Given the description of an element on the screen output the (x, y) to click on. 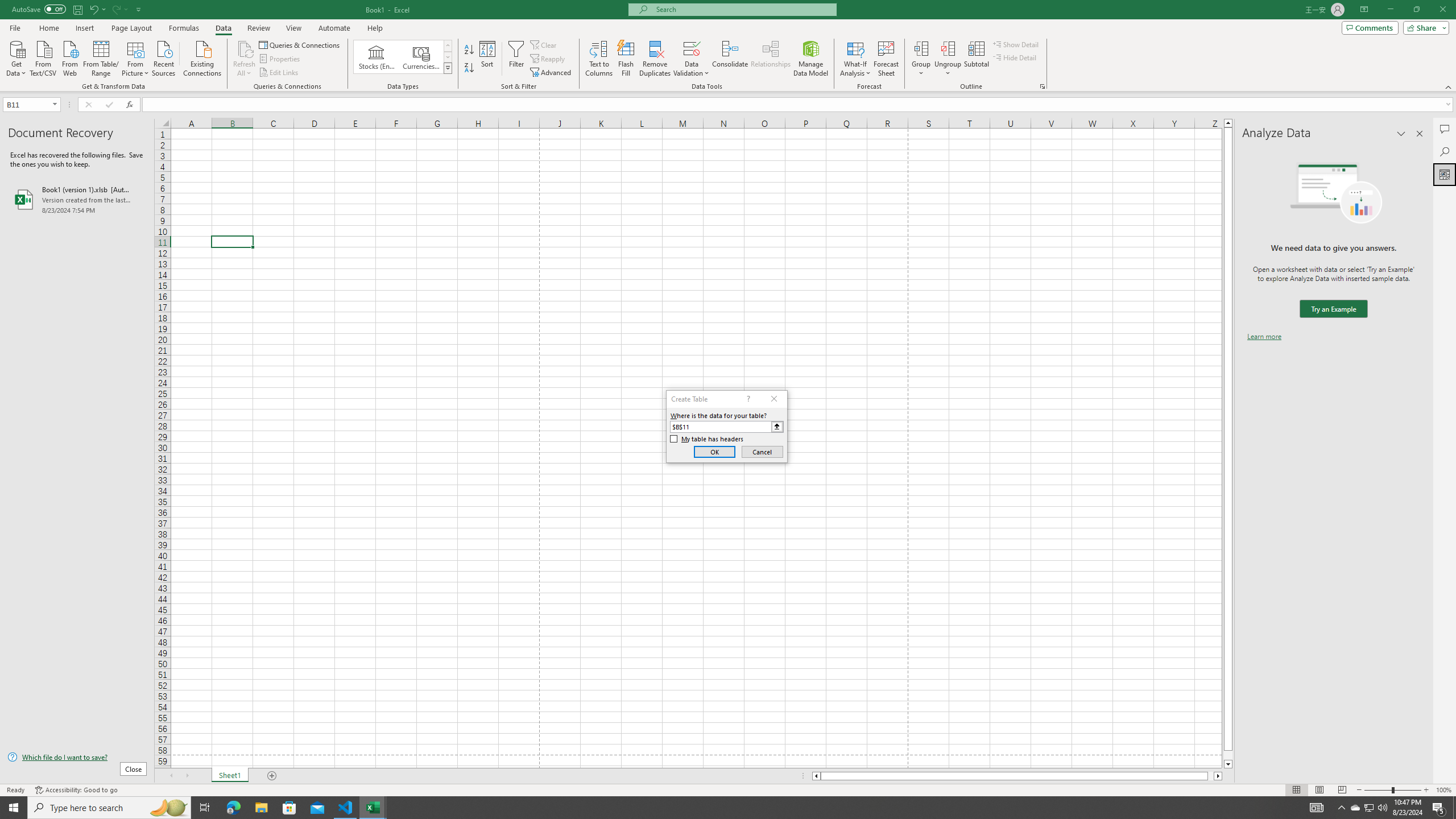
Close (1442, 9)
Microsoft search (742, 9)
Data (223, 28)
Consolidate... (729, 58)
Book1 (version 1).xlsb  [AutoRecovered] (77, 199)
Name Box (27, 104)
Learn more (1264, 336)
Minimize (1390, 9)
Advanced... (551, 72)
Reapply (548, 58)
Data Validation... (691, 58)
Properties (280, 58)
Search (1444, 151)
Review (258, 28)
